Given the description of an element on the screen output the (x, y) to click on. 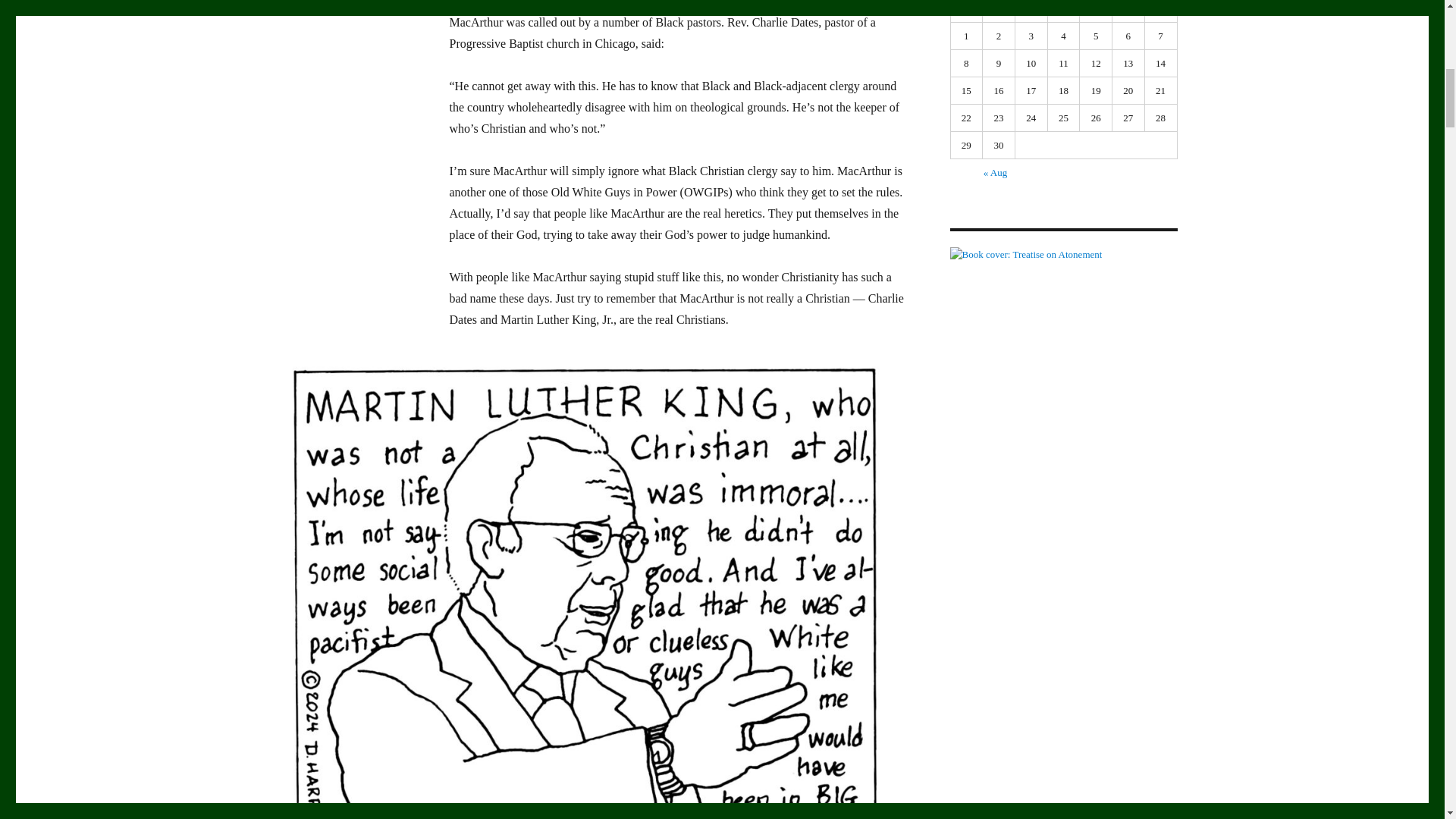
Saturday (1160, 11)
Sunday (967, 11)
Wednesday (1064, 11)
Tuesday (1031, 11)
Thursday (1096, 11)
Monday (998, 11)
Friday (1128, 11)
